Given the description of an element on the screen output the (x, y) to click on. 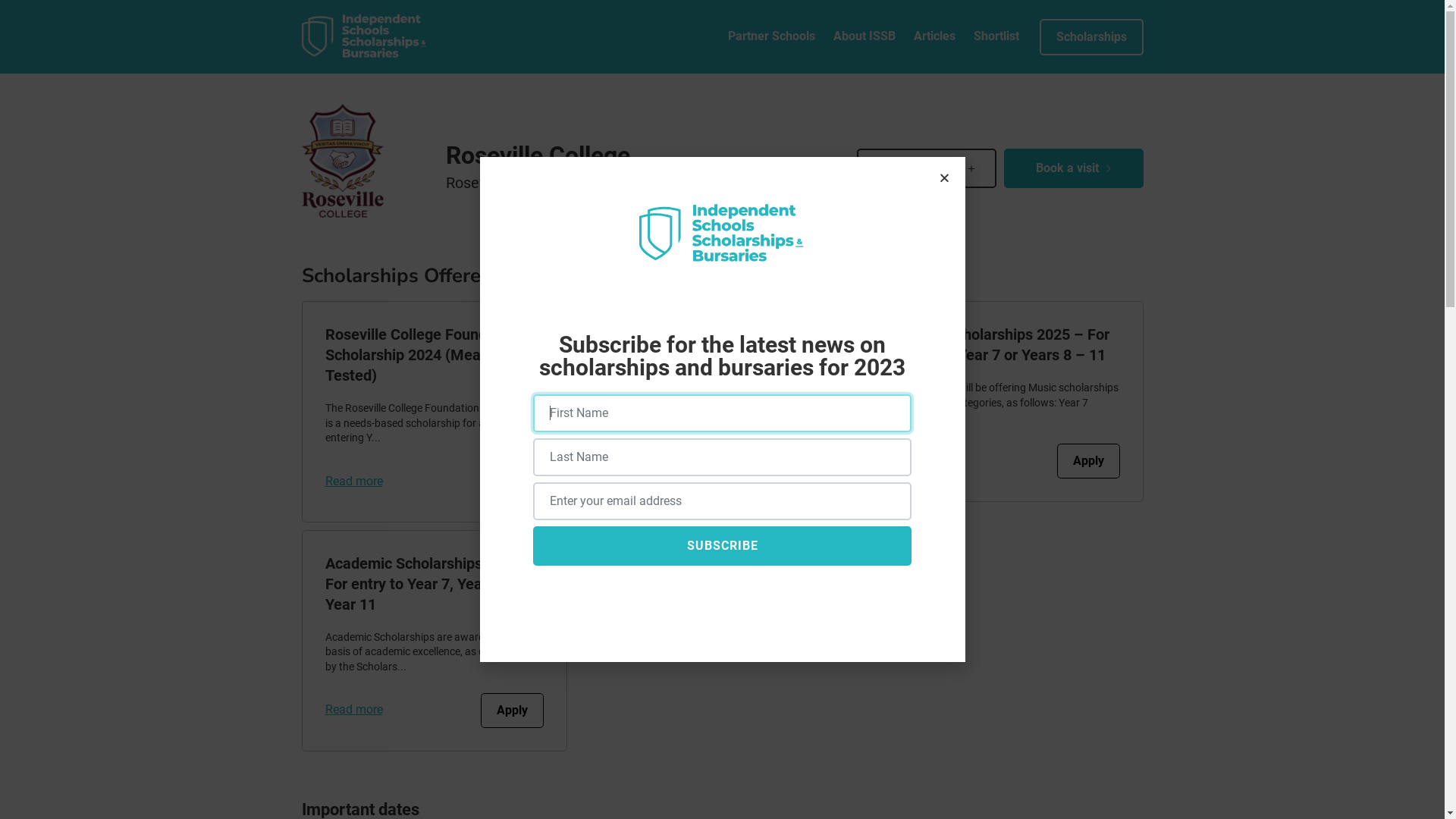
Apply Element type: text (511, 481)
Add to shortlist Element type: text (926, 168)
Scholarships Element type: text (1090, 36)
Book a visit Element type: text (1073, 168)
Apply Element type: text (799, 481)
Read more Element type: text (641, 481)
Partner Schools Element type: text (771, 36)
Apply Element type: text (1088, 460)
Shortlist Element type: text (996, 36)
Apply Element type: text (511, 710)
Subscribe Element type: text (722, 545)
Articles Element type: text (933, 36)
Read more Element type: text (353, 709)
Read more Element type: text (353, 481)
About ISSB Element type: text (863, 36)
Read more Element type: text (929, 460)
